Given the description of an element on the screen output the (x, y) to click on. 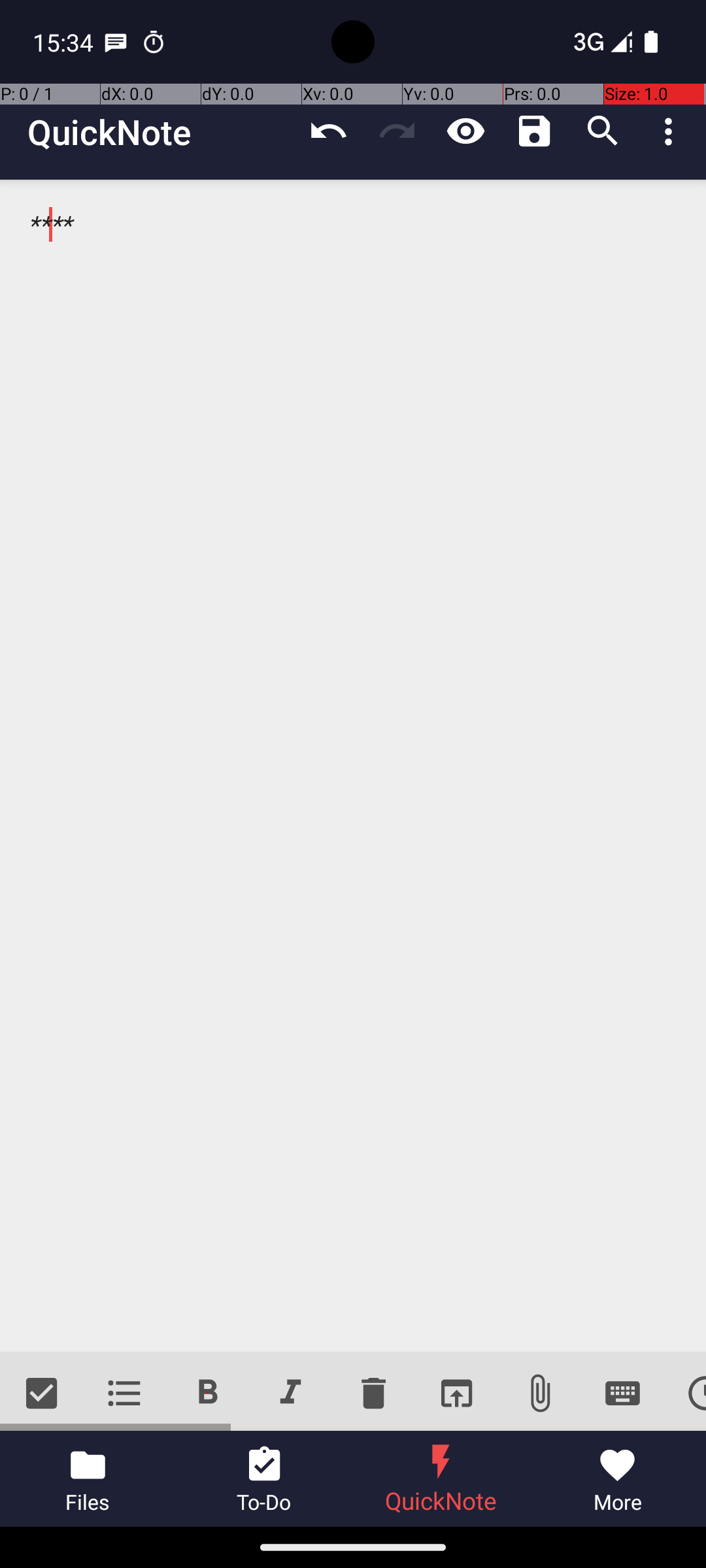
**** Element type: android.widget.EditText (353, 765)
